Given the description of an element on the screen output the (x, y) to click on. 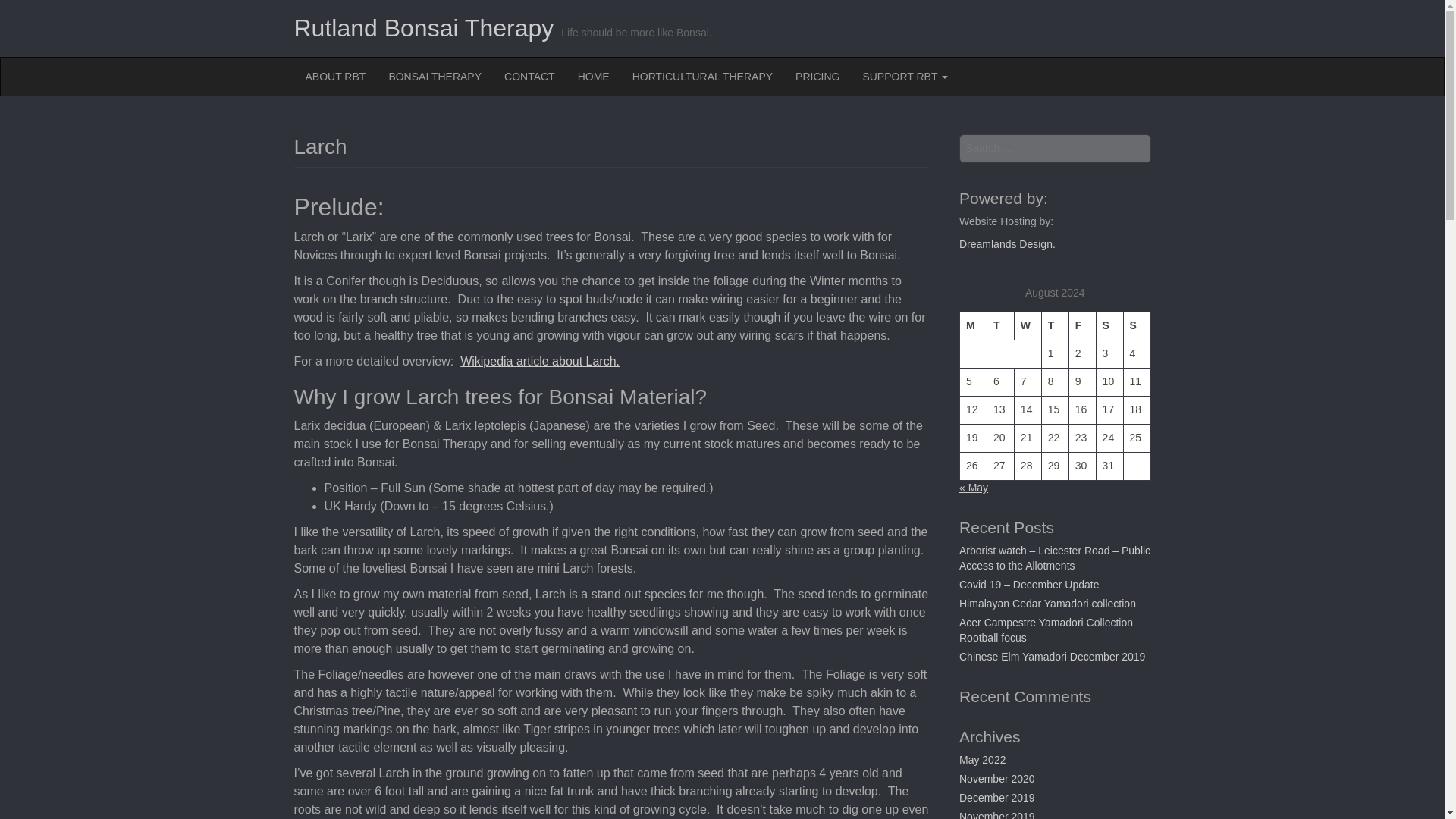
Friday (1082, 326)
Thursday (1054, 326)
Wikipedia article about Larch. (540, 360)
ABOUT RBT (335, 76)
Saturday (1109, 326)
Acer Campestre Yamadori Collection Rootball focus (1045, 629)
HORTICULTURAL THERAPY (702, 76)
CONTACT (529, 76)
Himalayan Cedar Yamadori collection (1047, 603)
